Given the description of an element on the screen output the (x, y) to click on. 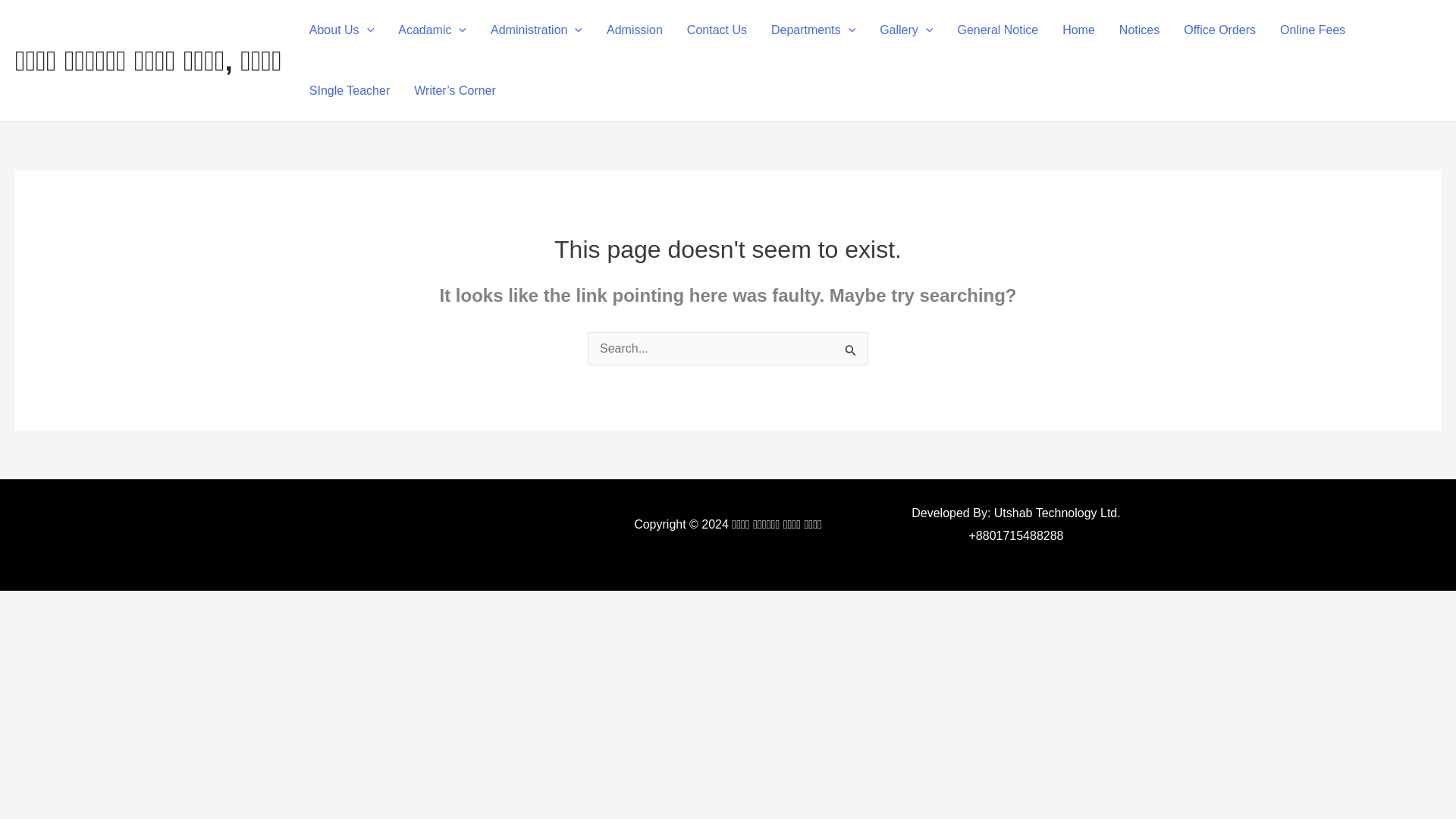
About Us (341, 30)
Departments (812, 30)
Contact Us (716, 30)
Administration (536, 30)
Admission (634, 30)
Acadamic (432, 30)
